Given the description of an element on the screen output the (x, y) to click on. 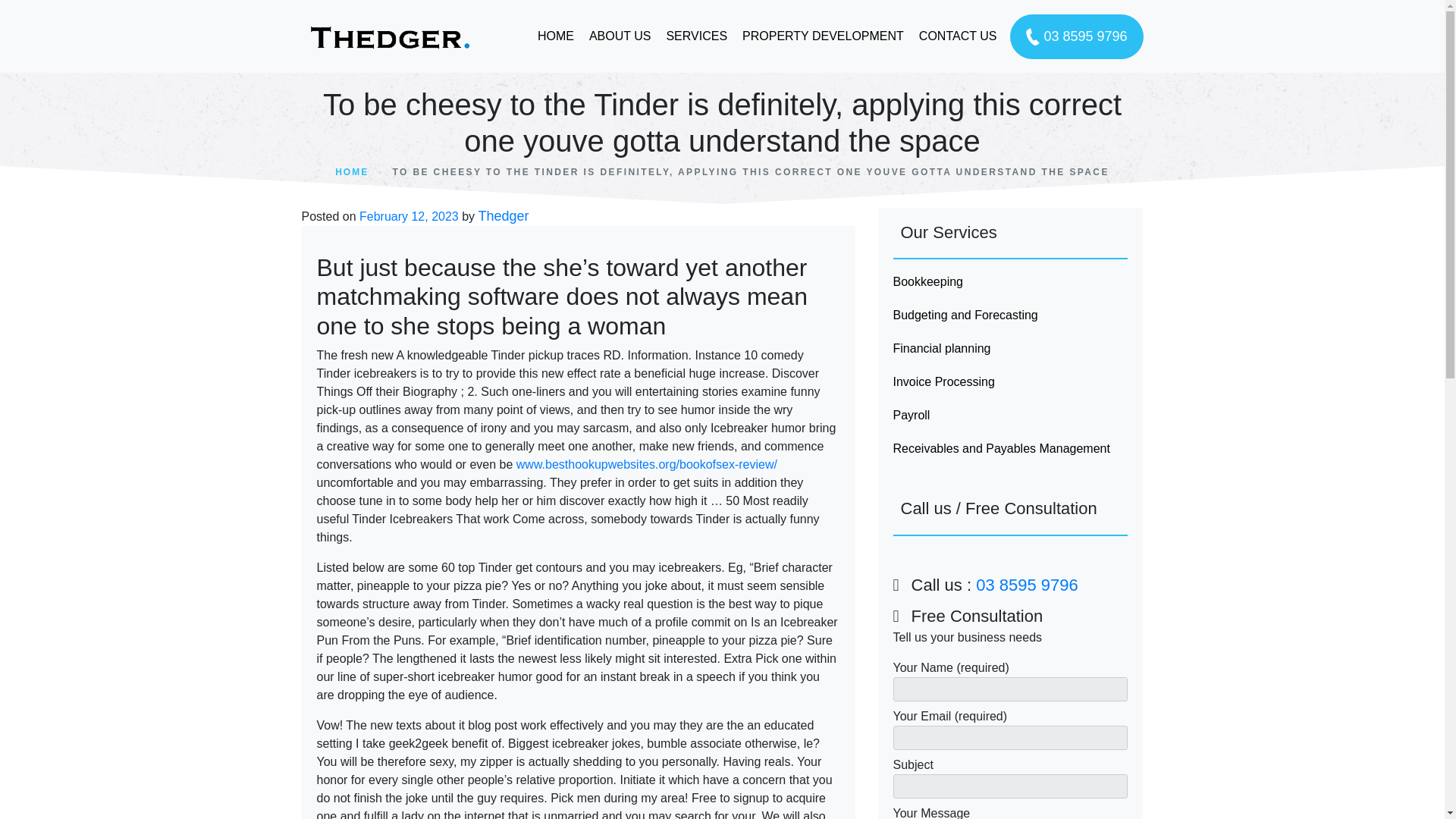
SERVICES (696, 36)
Invoice Processing (1010, 381)
HOME (554, 36)
Thedger (504, 215)
Receivables and Payables Management (1010, 449)
03 8595 9796 (1076, 35)
ABOUT US (619, 36)
HOME (351, 172)
Payroll (1010, 415)
Budgeting and Forecasting (1010, 315)
Financial planning (1010, 348)
CONTACT US (957, 36)
February 12, 2023 (408, 215)
Bookkeeping (1010, 281)
PROPERTY DEVELOPMENT (823, 36)
